Given the description of an element on the screen output the (x, y) to click on. 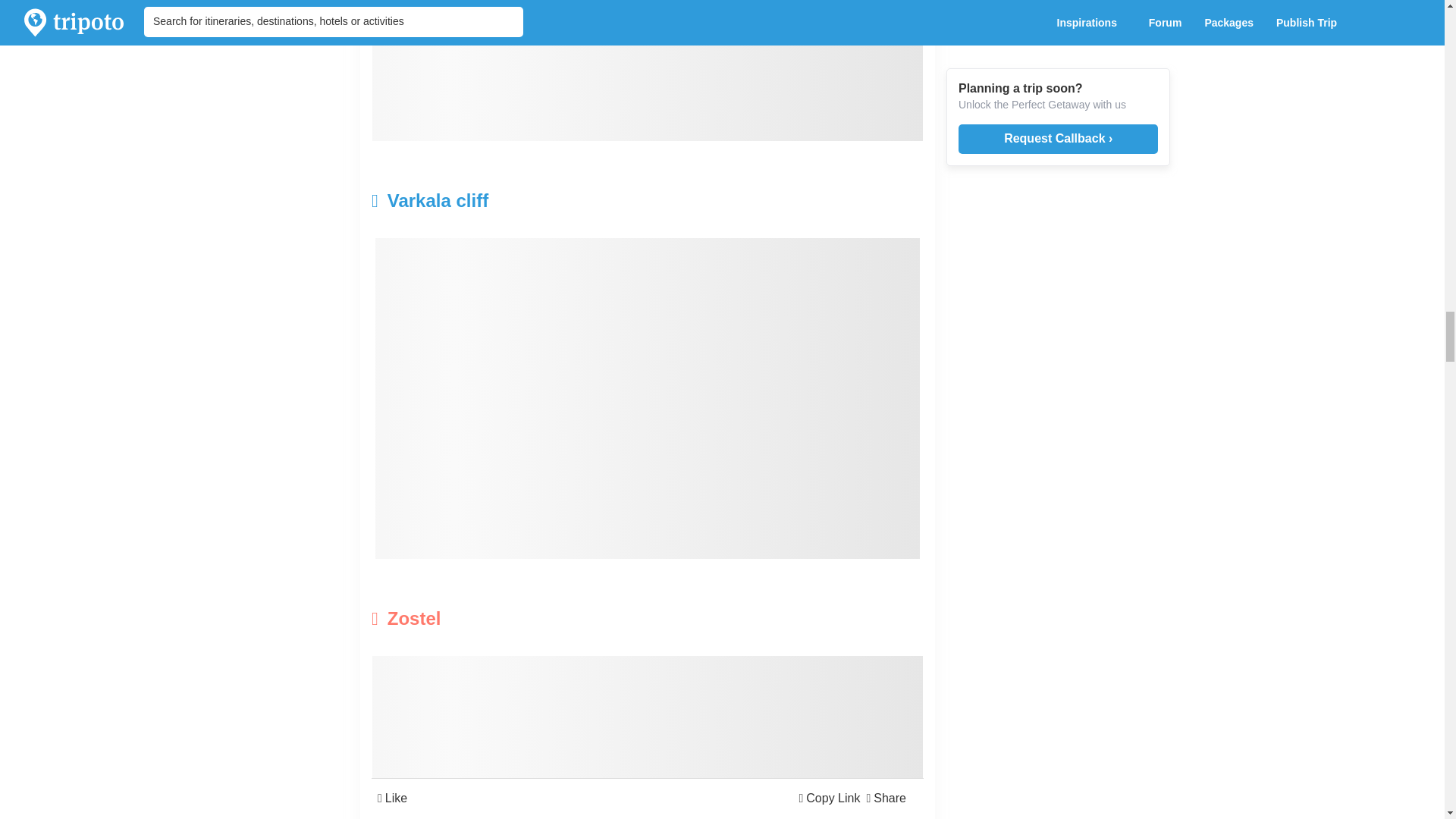
Varkala cliff (555, 200)
Zostel (555, 618)
